Given the description of an element on the screen output the (x, y) to click on. 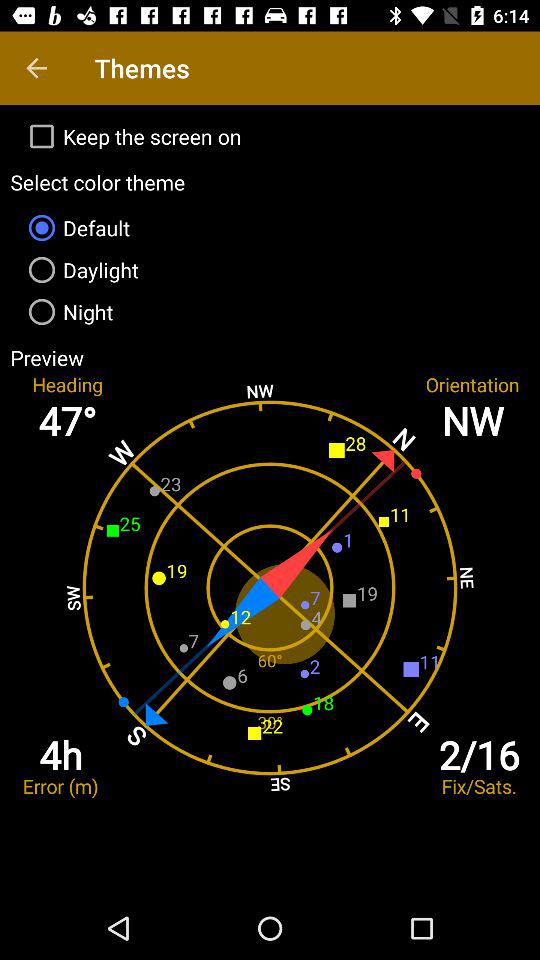
jump until keep the screen item (270, 136)
